Given the description of an element on the screen output the (x, y) to click on. 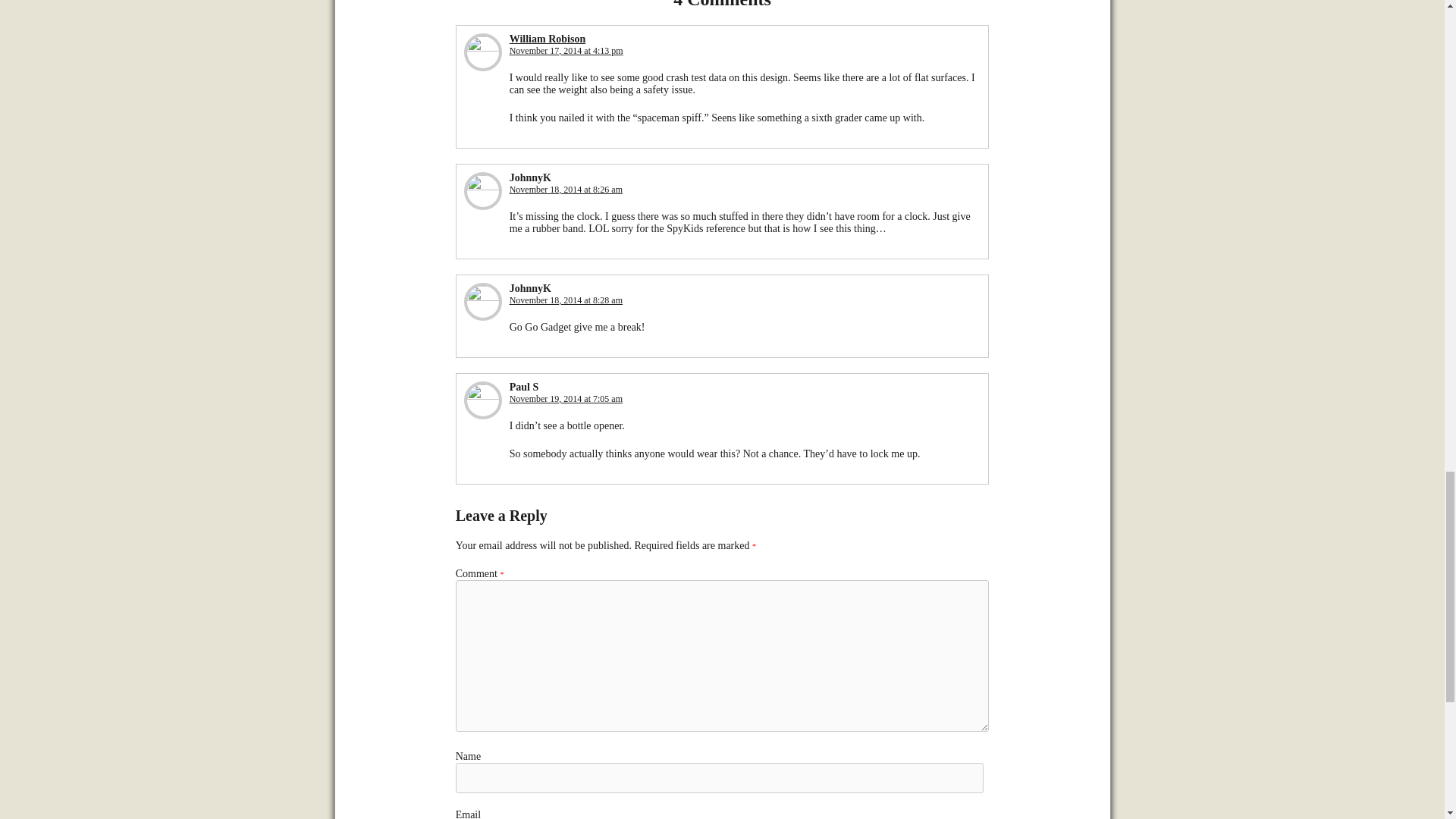
November 19, 2014 at 7:05 am (566, 398)
November 18, 2014 at 8:26 am (566, 189)
November 17, 2014 at 4:13 pm (566, 50)
William Robison (547, 39)
November 18, 2014 at 8:28 am (566, 299)
